Given the description of an element on the screen output the (x, y) to click on. 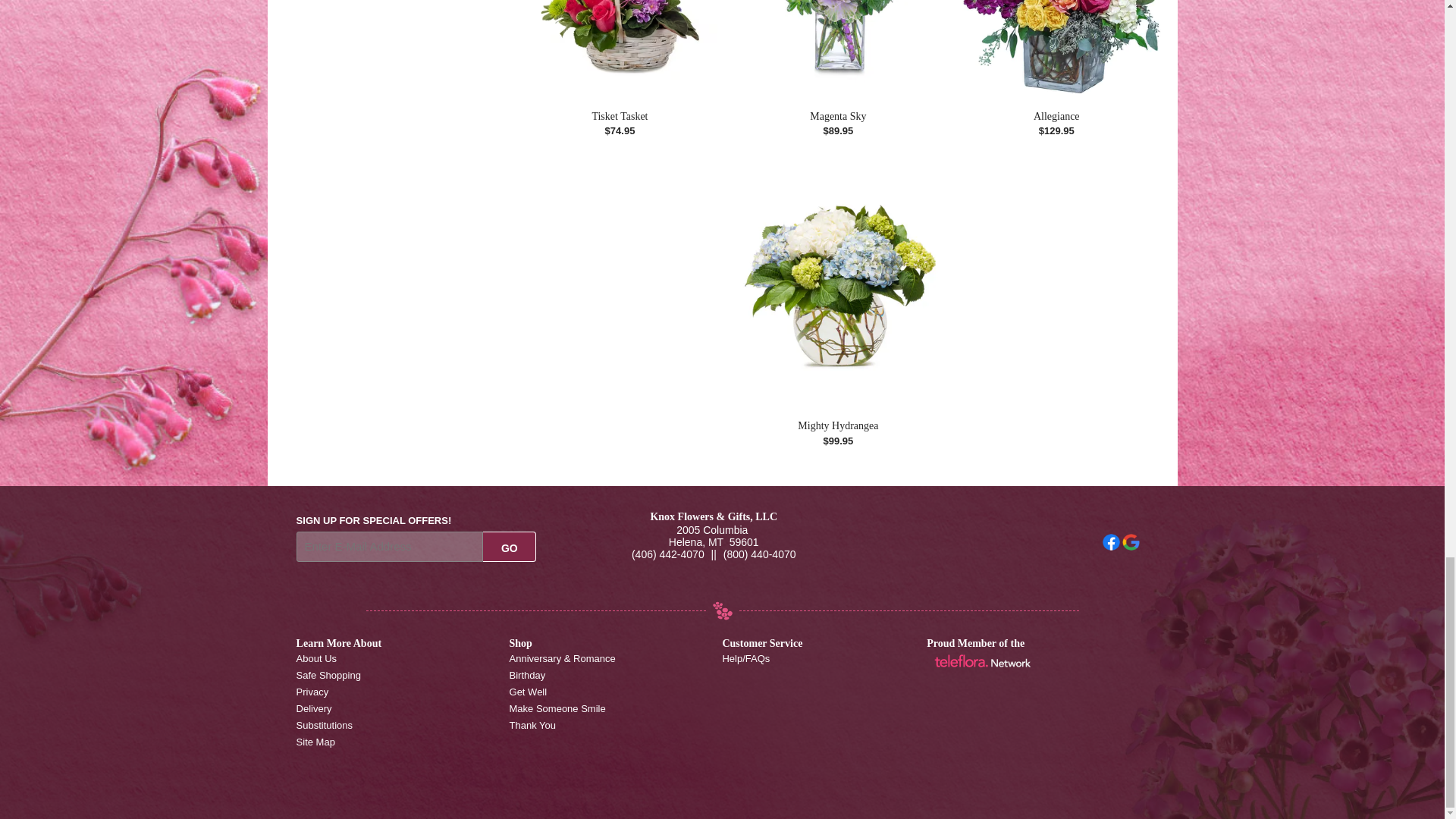
Go (509, 546)
Email Sign up (390, 546)
go (509, 546)
